Given the description of an element on the screen output the (x, y) to click on. 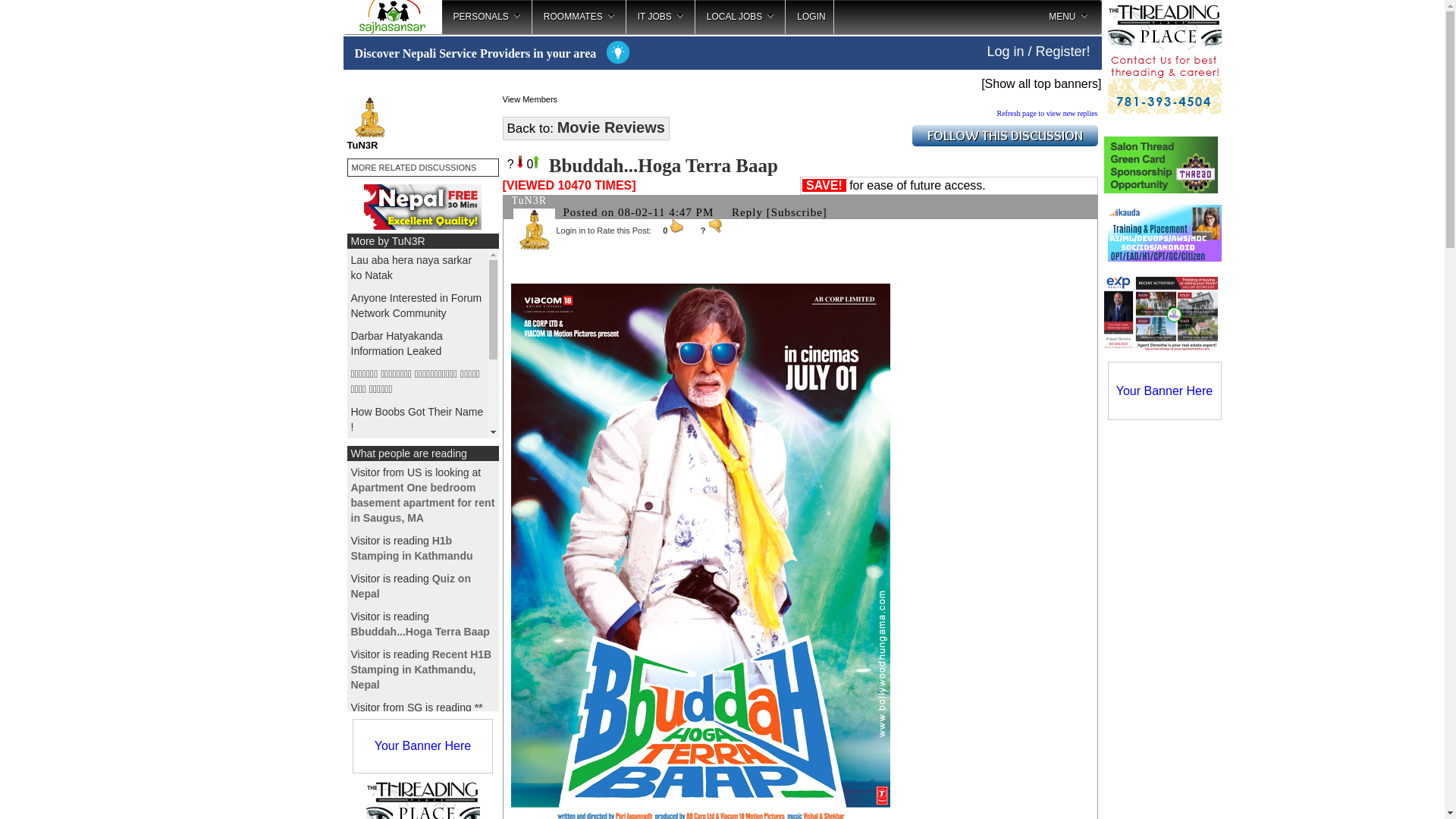
How Boobs Got Their Name ! (416, 419)
Your Banner Here (1164, 390)
Anyone Interested in Forum Network Community (415, 305)
MENU (1066, 17)
LOGIN (809, 17)
IT JOBS (660, 17)
10 more flags than likes deactivates post. (714, 226)
Visitor is reading Quiz on Nepal (410, 585)
ROOMMATES (579, 17)
Bbuddah...Hoga Terra Baap (415, 555)
Upvote this thread! (531, 164)
LOCAL JOBS (740, 17)
PERSONALS (486, 17)
